Given the description of an element on the screen output the (x, y) to click on. 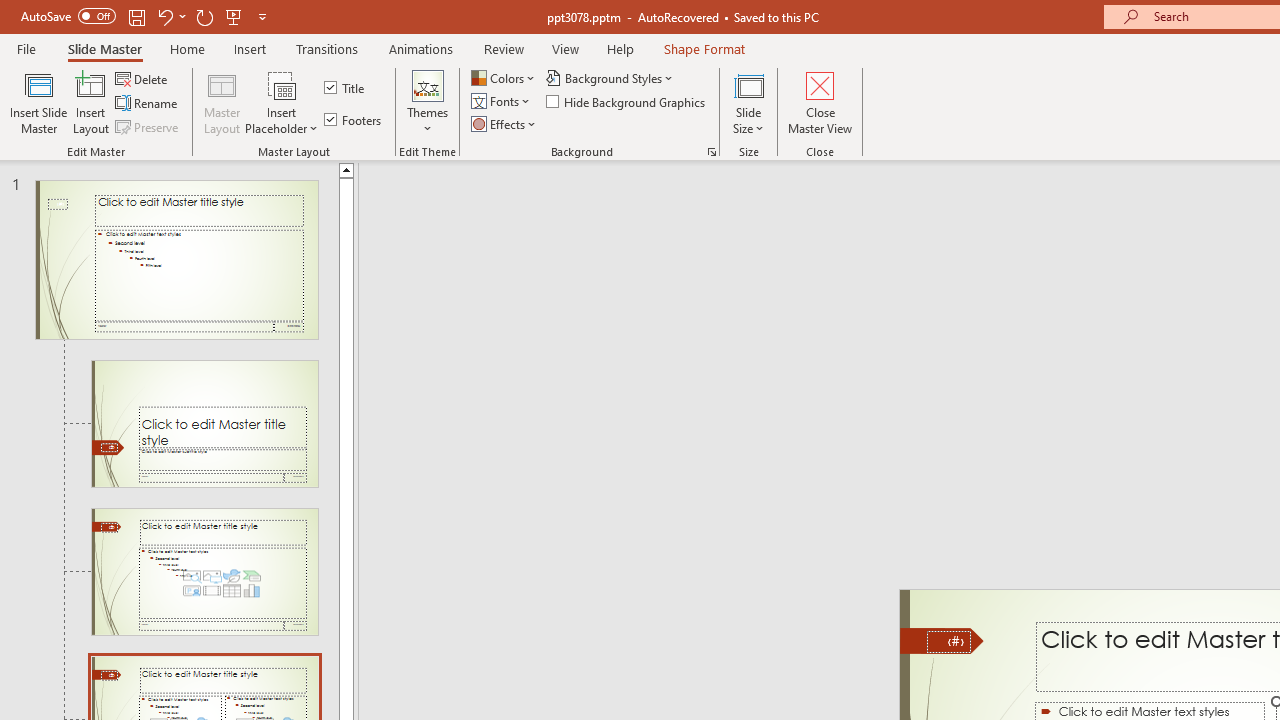
Slide Size (749, 102)
Slide Title and Content Layout: used by no slides (204, 572)
Slide Master (104, 48)
Slide Number (948, 641)
Insert Placeholder (282, 102)
Title (346, 87)
Content (282, 84)
Close Master View (820, 102)
Hide Background Graphics (626, 101)
Colors (504, 78)
